Given the description of an element on the screen output the (x, y) to click on. 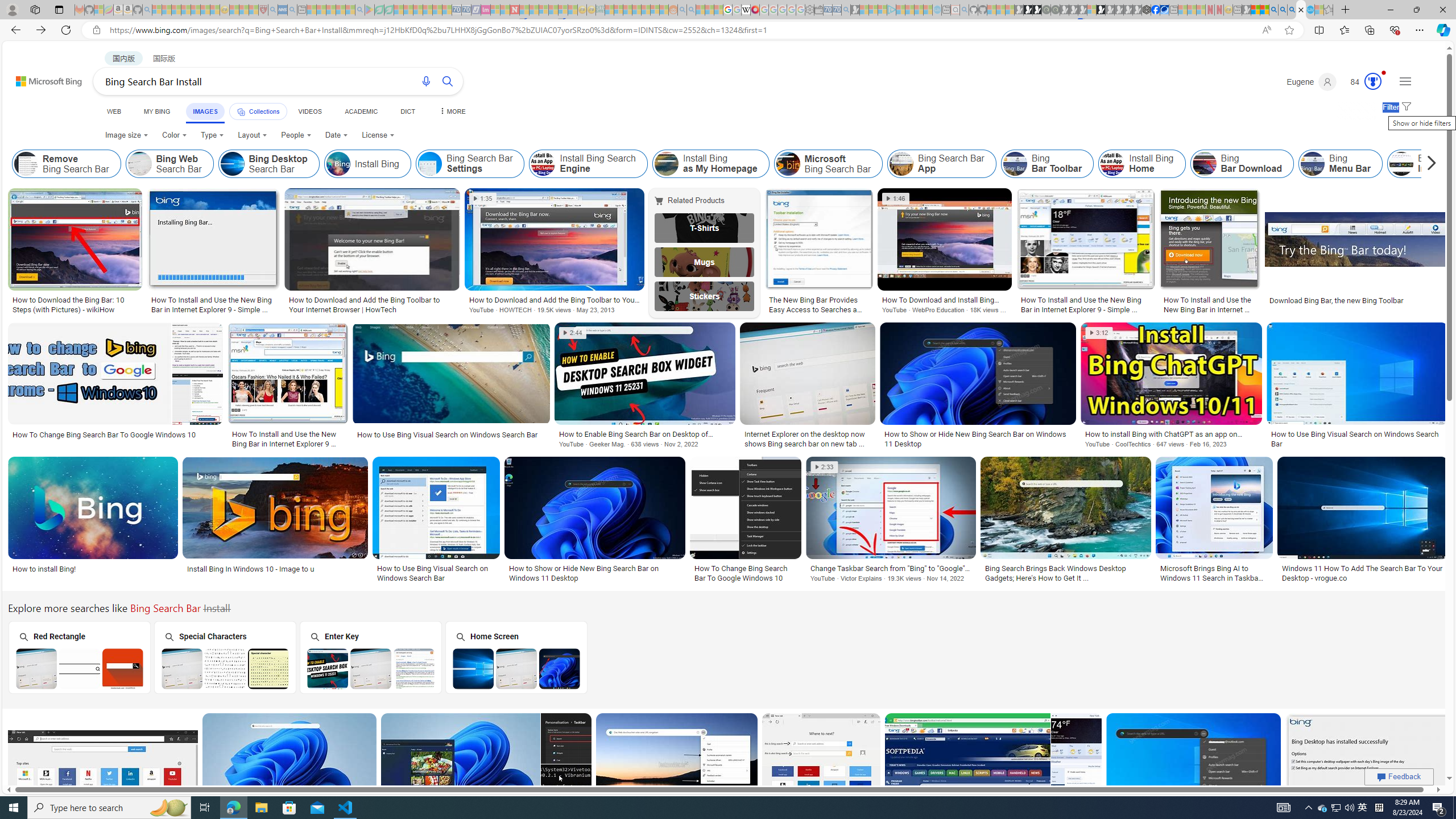
Remove Bing Search Bar (66, 163)
MORE (451, 111)
Bing Search Bar Special Characters (224, 668)
Nordace | Facebook (1154, 9)
Bing Image Search Not Working (1401, 163)
Scroll right (1428, 163)
Enter Key (370, 656)
Services - Maintenance | Sky Blue Bikes - Sky Blue Bikes (1309, 9)
